Given the description of an element on the screen output the (x, y) to click on. 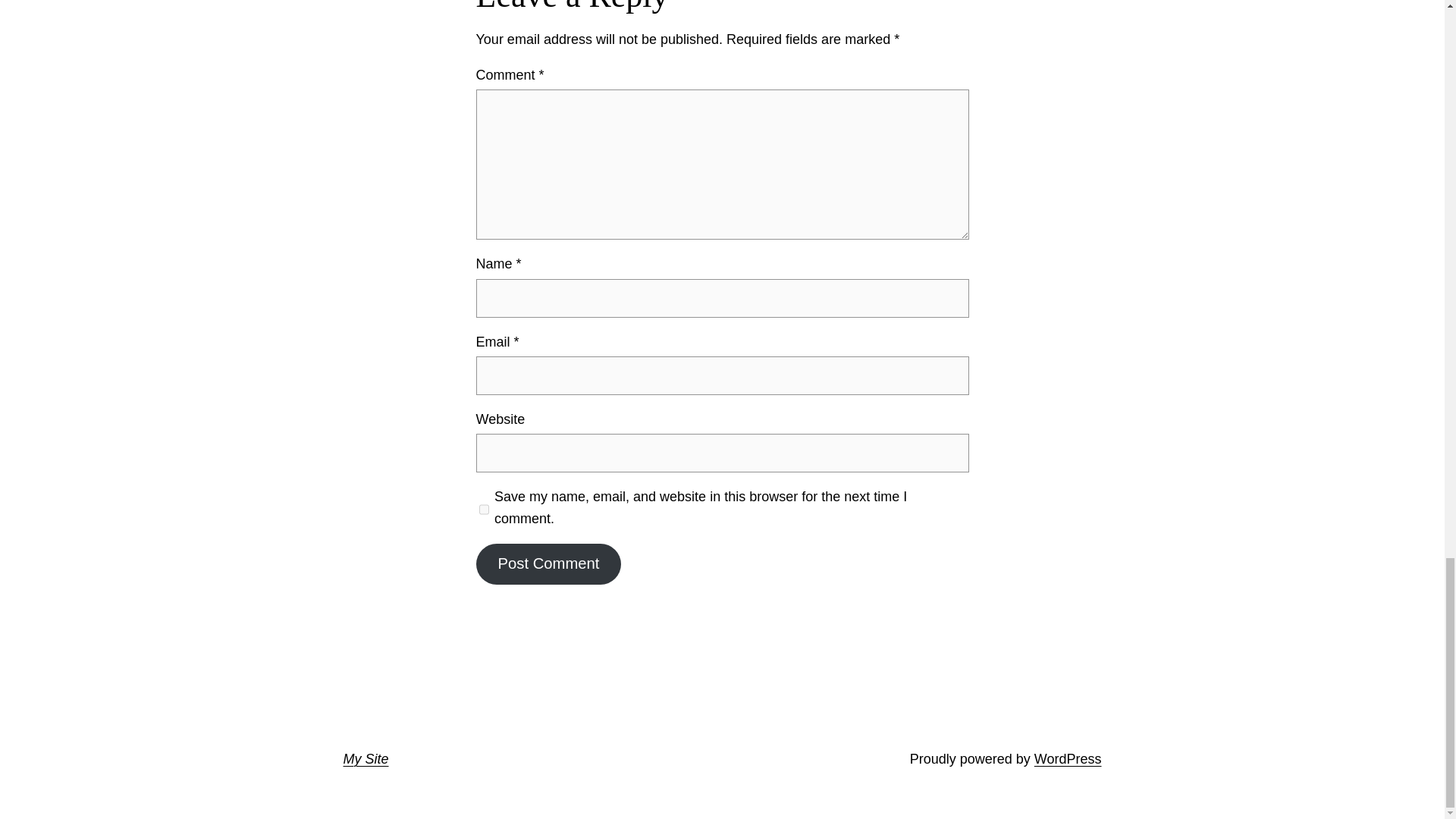
Post Comment (548, 563)
WordPress (1067, 758)
My Site (365, 758)
Post Comment (548, 563)
